Given the description of an element on the screen output the (x, y) to click on. 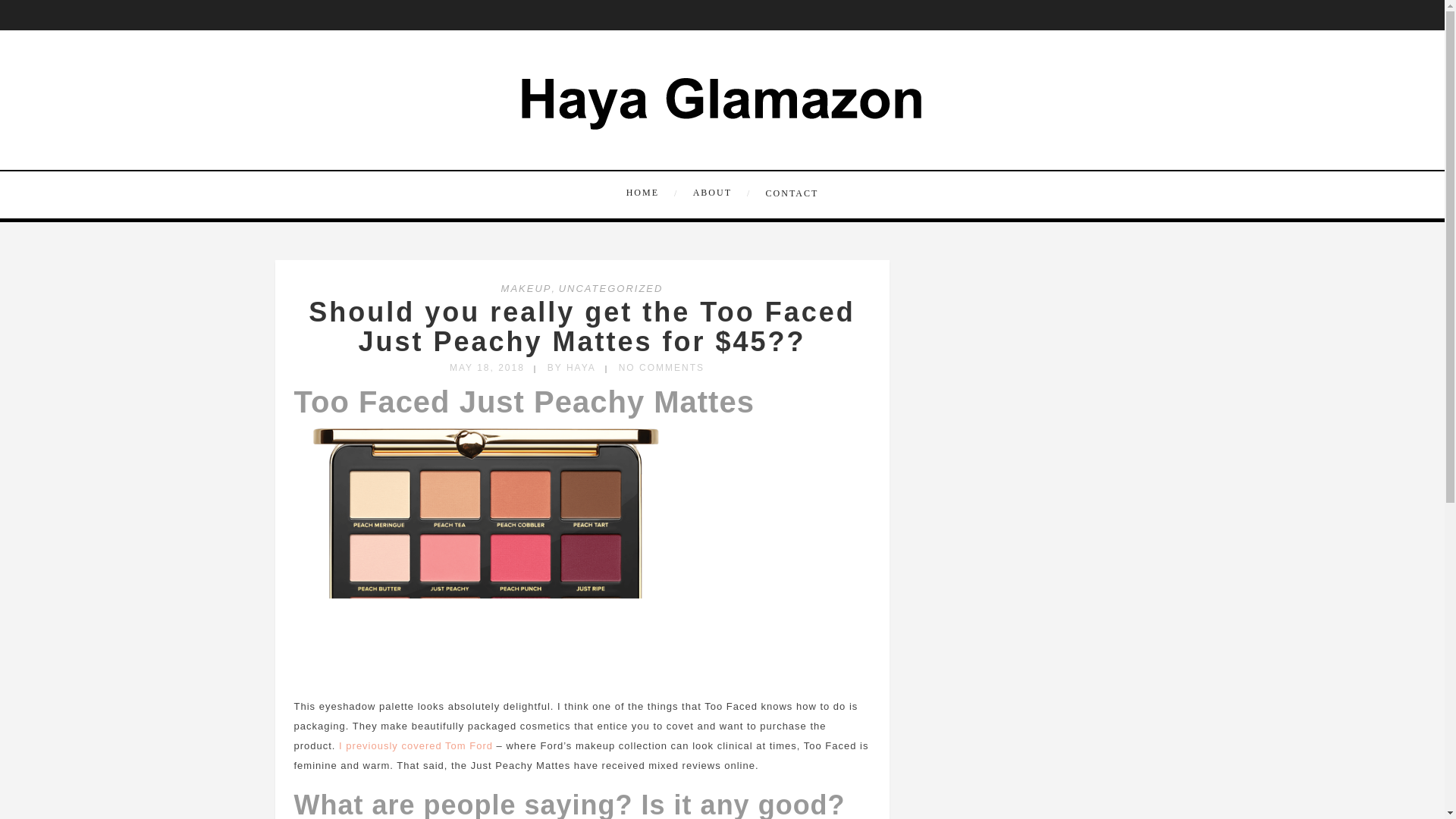
ABOUT (719, 192)
UNCATEGORIZED (611, 288)
CONTACT (788, 192)
I previously covered Tom Ford (416, 745)
MAKEUP (525, 288)
BY HAYA (571, 367)
MAY 18, 2018 (486, 367)
NO COMMENTS (661, 367)
HOME (653, 192)
